Given the description of an element on the screen output the (x, y) to click on. 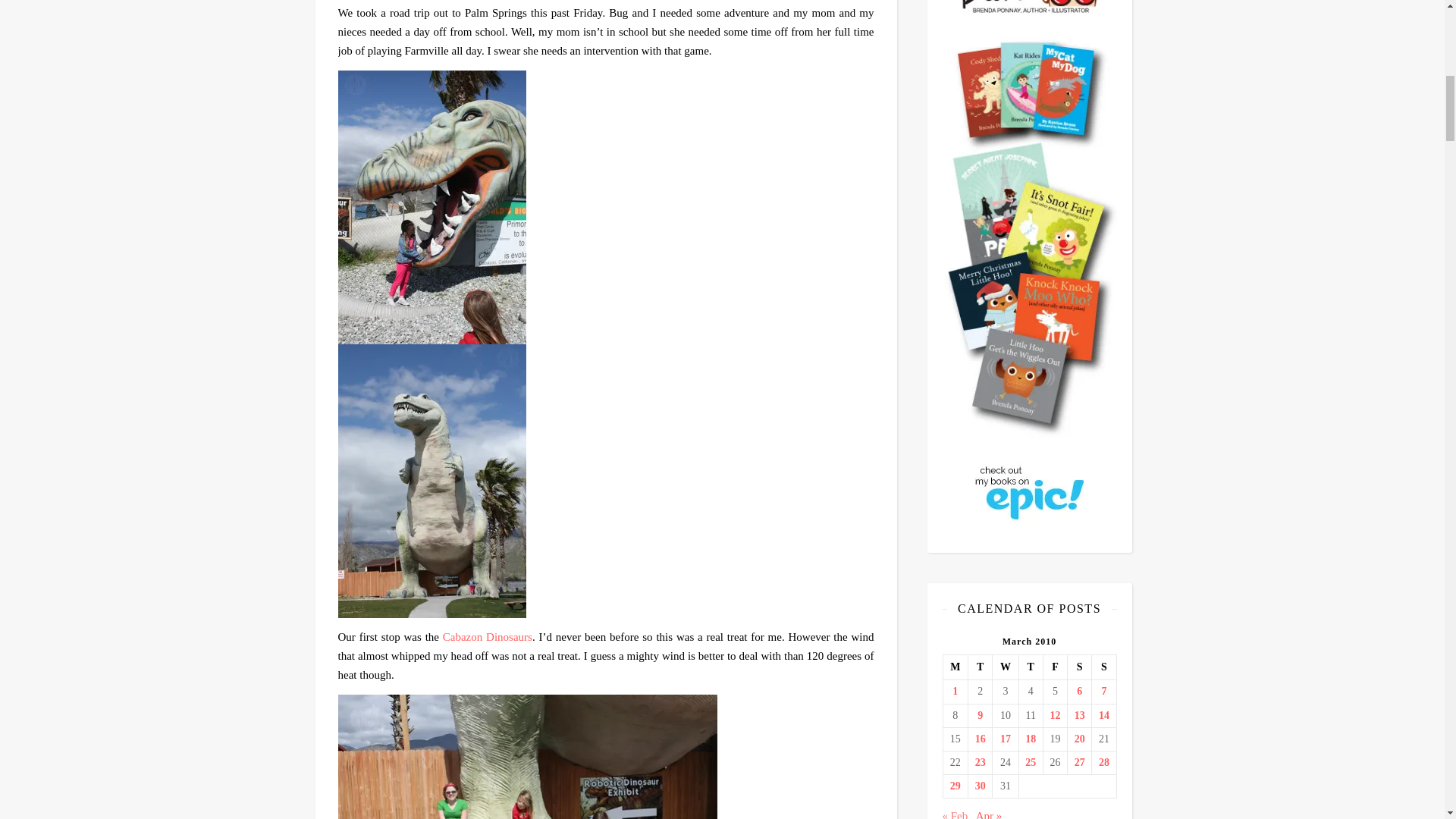
Cabazon Dinosaurs (487, 636)
claws by secret agent josephine, on Flickr (606, 756)
